Given the description of an element on the screen output the (x, y) to click on. 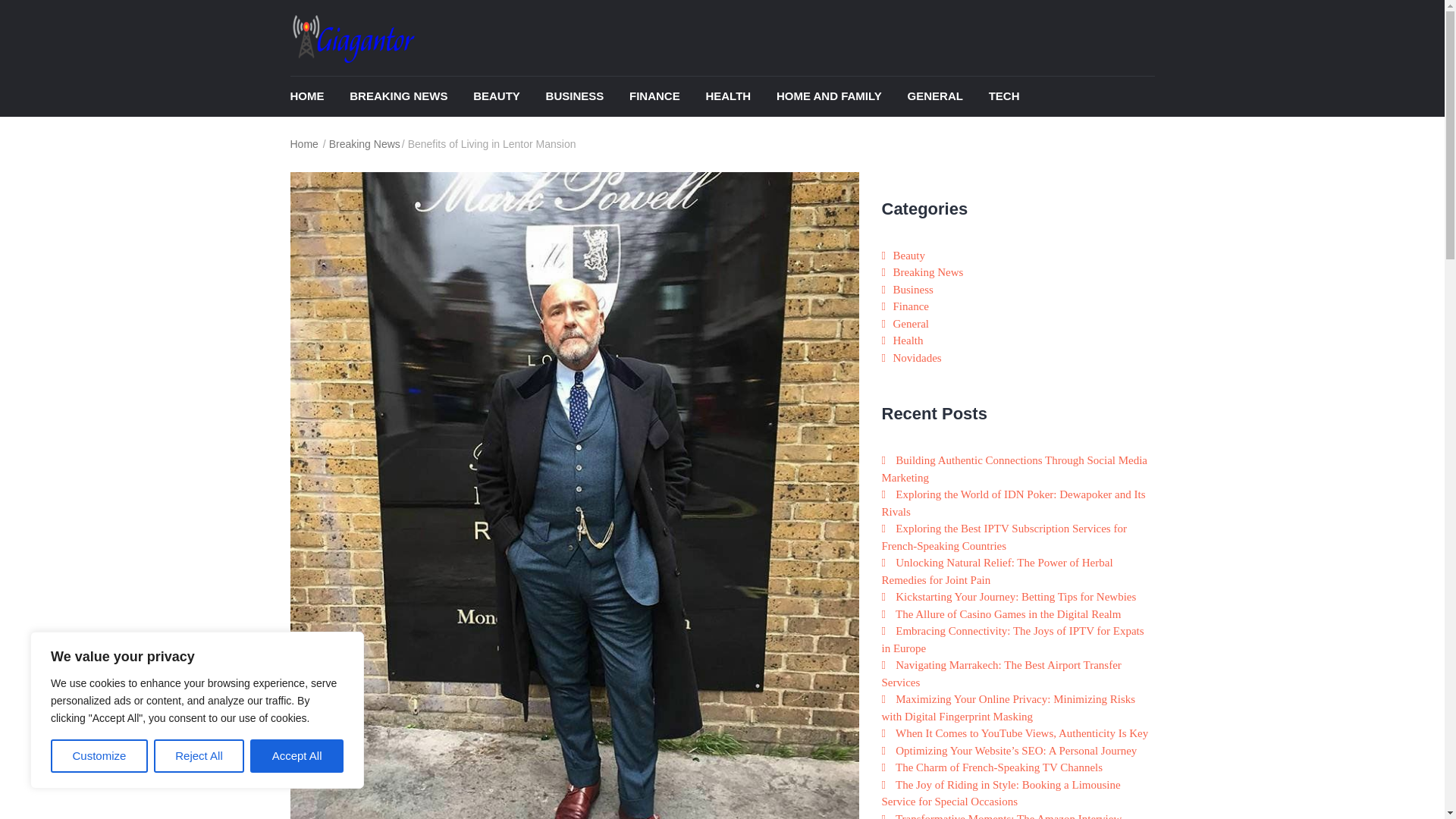
TECH (1015, 96)
BEAUTY (508, 96)
Health (908, 340)
HEALTH (738, 96)
Home (304, 143)
Customize (99, 756)
Finance (665, 96)
FINANCE (665, 96)
Accept All (296, 756)
HOME AND FAMILY (840, 96)
